Given the description of an element on the screen output the (x, y) to click on. 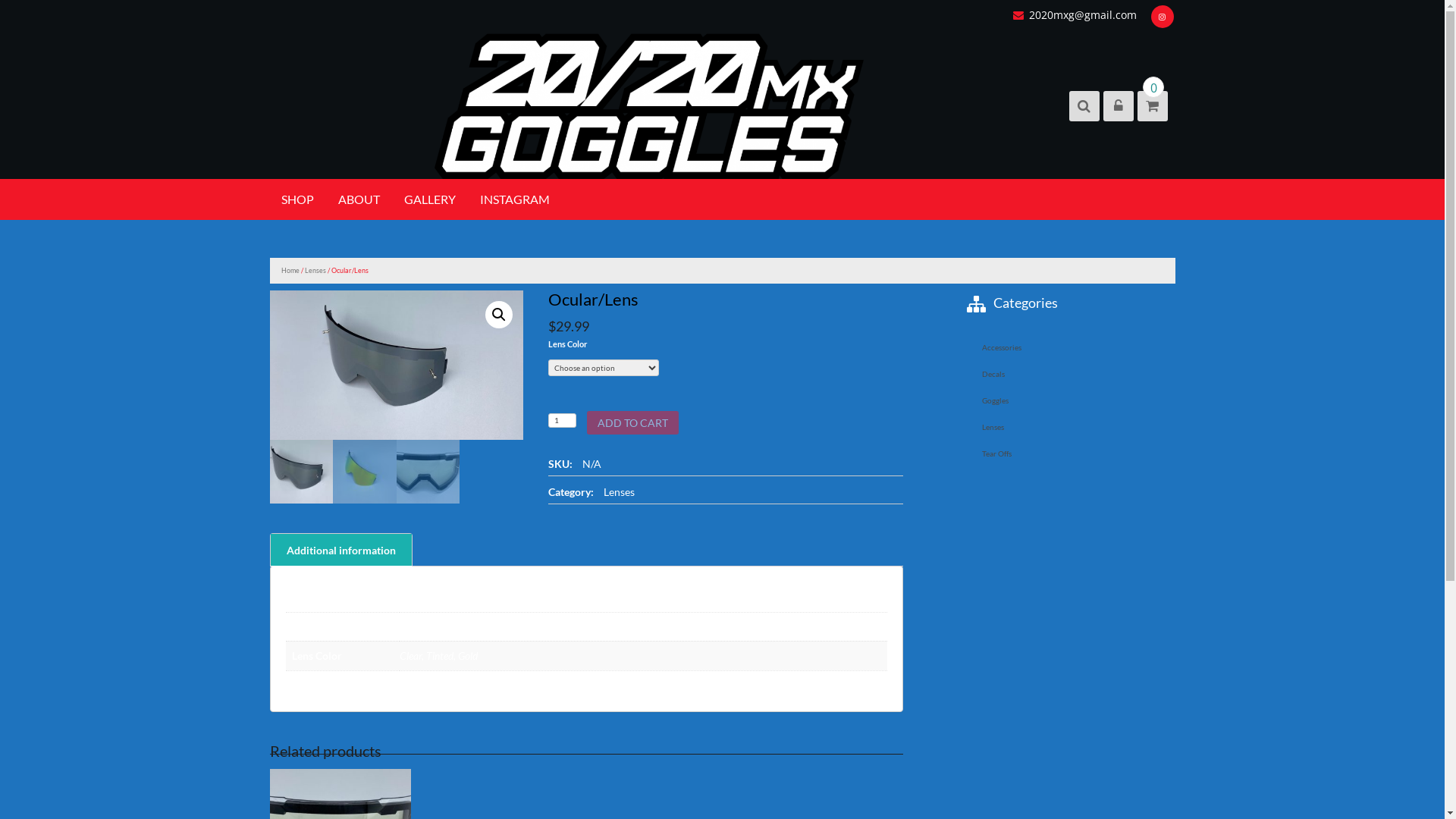
2020mxg@gmail.com Element type: text (1076, 14)
2020 MX GOGGLES Element type: text (958, 119)
Home Element type: text (289, 270)
File_000_110x110@2x Element type: hover (649, 384)
Accessories Element type: text (1070, 347)
INSTAGRAM Element type: text (514, 198)
Goggles Element type: text (1070, 400)
Tear Offs Element type: text (1070, 453)
Decals Element type: text (1070, 373)
Lenses Element type: text (618, 491)
Additional information Element type: text (340, 549)
Lenses Element type: text (1070, 427)
GALLERY Element type: text (429, 198)
0 Element type: text (1151, 106)
ABOUT Element type: text (358, 198)
SHOP Element type: text (297, 198)
Login Element type: text (1015, 278)
Qty Element type: hover (561, 420)
Lenses Element type: text (315, 270)
File_001_1024x1024@2x Element type: hover (396, 364)
ADD TO CART Element type: text (632, 422)
